Given the description of an element on the screen output the (x, y) to click on. 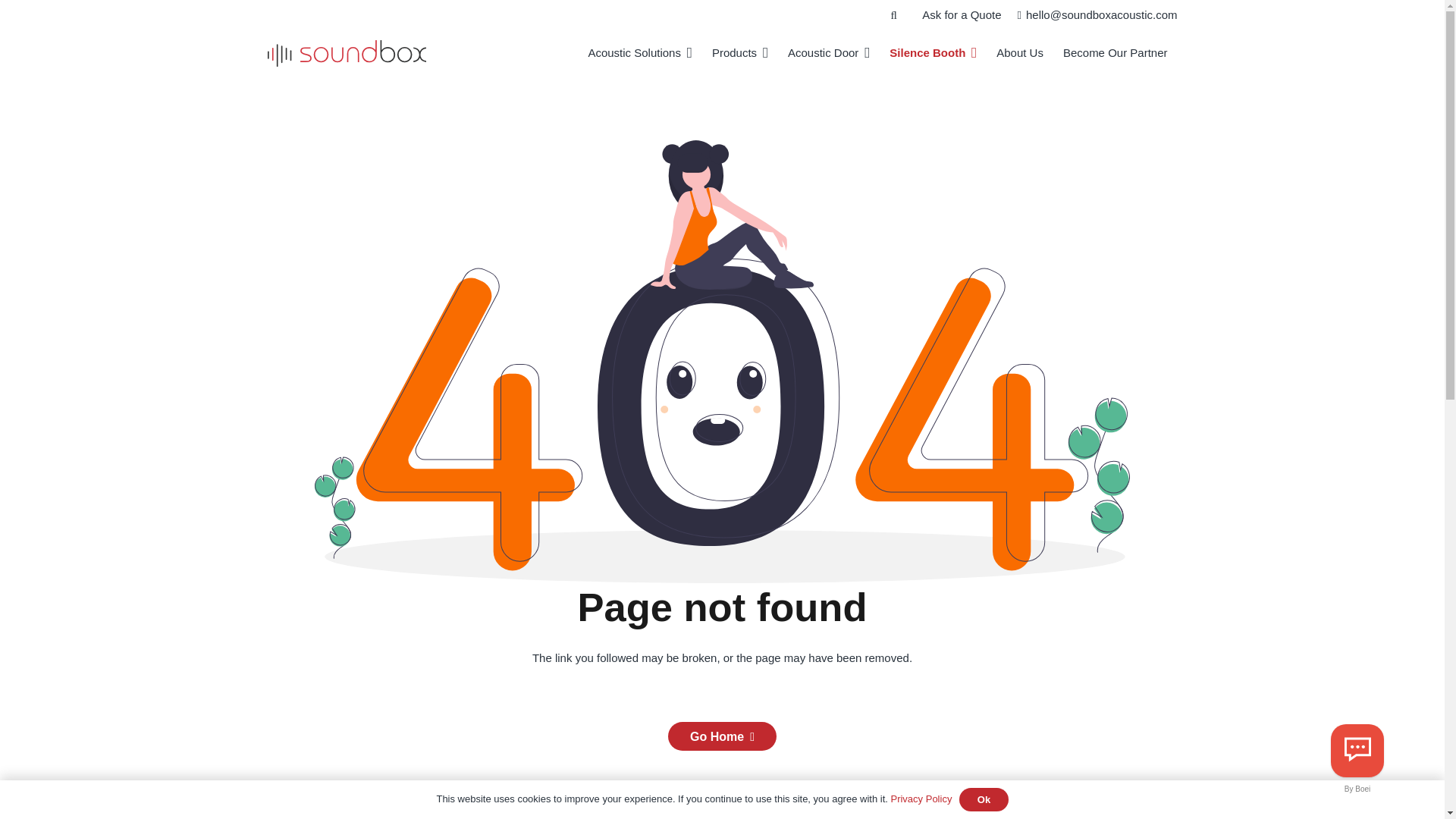
Acoustic Solutions (639, 53)
Products (739, 53)
